Given the description of an element on the screen output the (x, y) to click on. 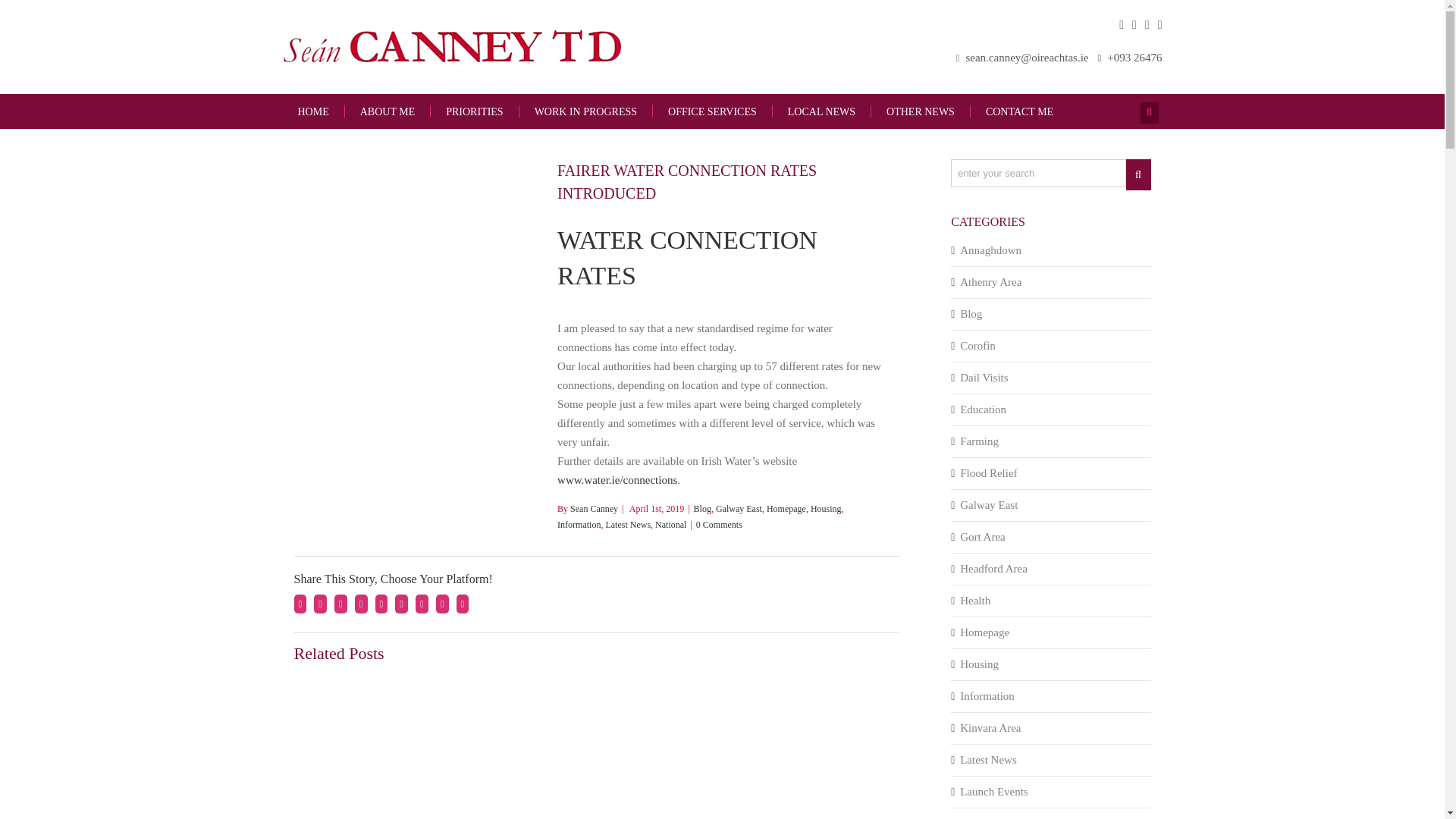
ABOUT ME (386, 110)
Posts by Sean Canney (593, 508)
WORK IN PROGRESS (585, 110)
PRIORITIES (473, 110)
OTHER NEWS (919, 110)
HOME (312, 111)
OFFICE SERVICES (711, 110)
LOCAL NEWS (820, 110)
